Given the description of an element on the screen output the (x, y) to click on. 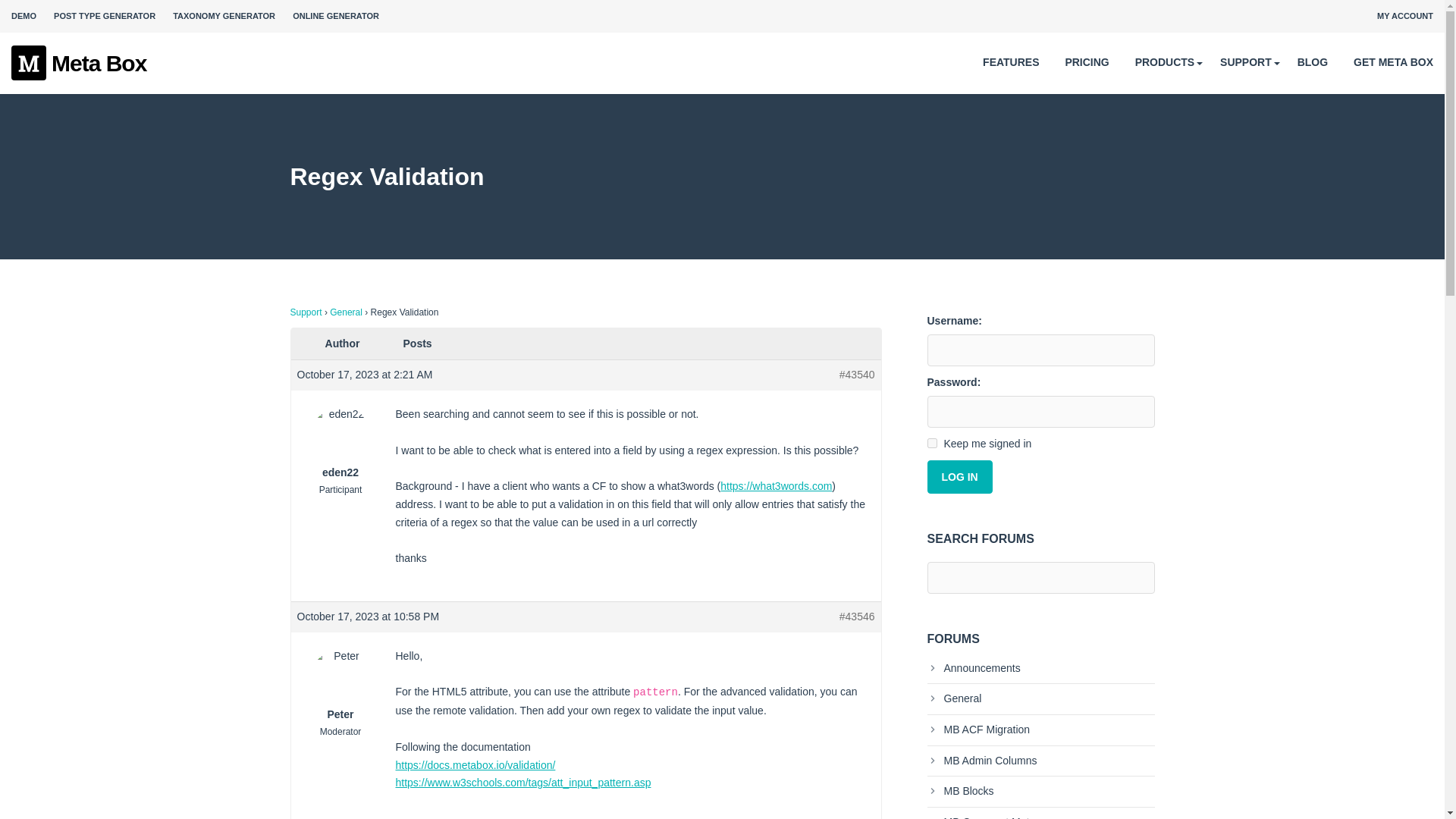
PRODUCTS (1165, 62)
forever (931, 442)
FEATURES (1010, 62)
POST TYPE GENERATOR (104, 15)
Meta Box (79, 63)
MB Admin Columns (981, 760)
Support (305, 312)
GET META BOX (1393, 62)
MB Blocks (959, 790)
General (953, 698)
MY ACCOUNT (1404, 15)
View eden22's profile (340, 442)
Peter (340, 685)
BLOG (1312, 62)
DEMO (23, 15)
